Given the description of an element on the screen output the (x, y) to click on. 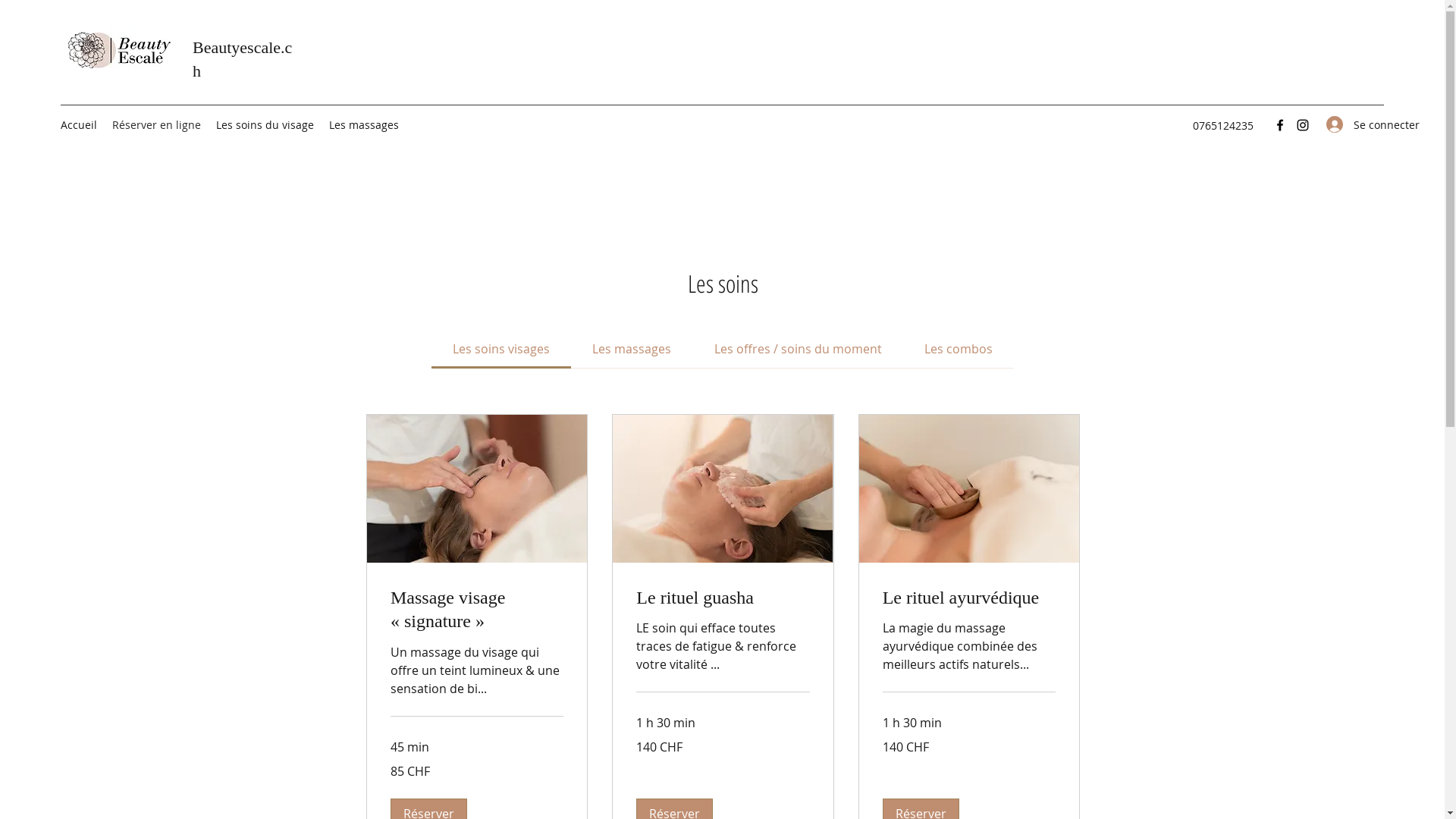
Les massages Element type: text (363, 124)
Les soins du visage Element type: text (264, 124)
Accueil Element type: text (78, 124)
Le rituel guasha Element type: text (722, 598)
Beautyescale.ch Element type: text (241, 58)
Se connecter Element type: text (1349, 124)
